Given the description of an element on the screen output the (x, y) to click on. 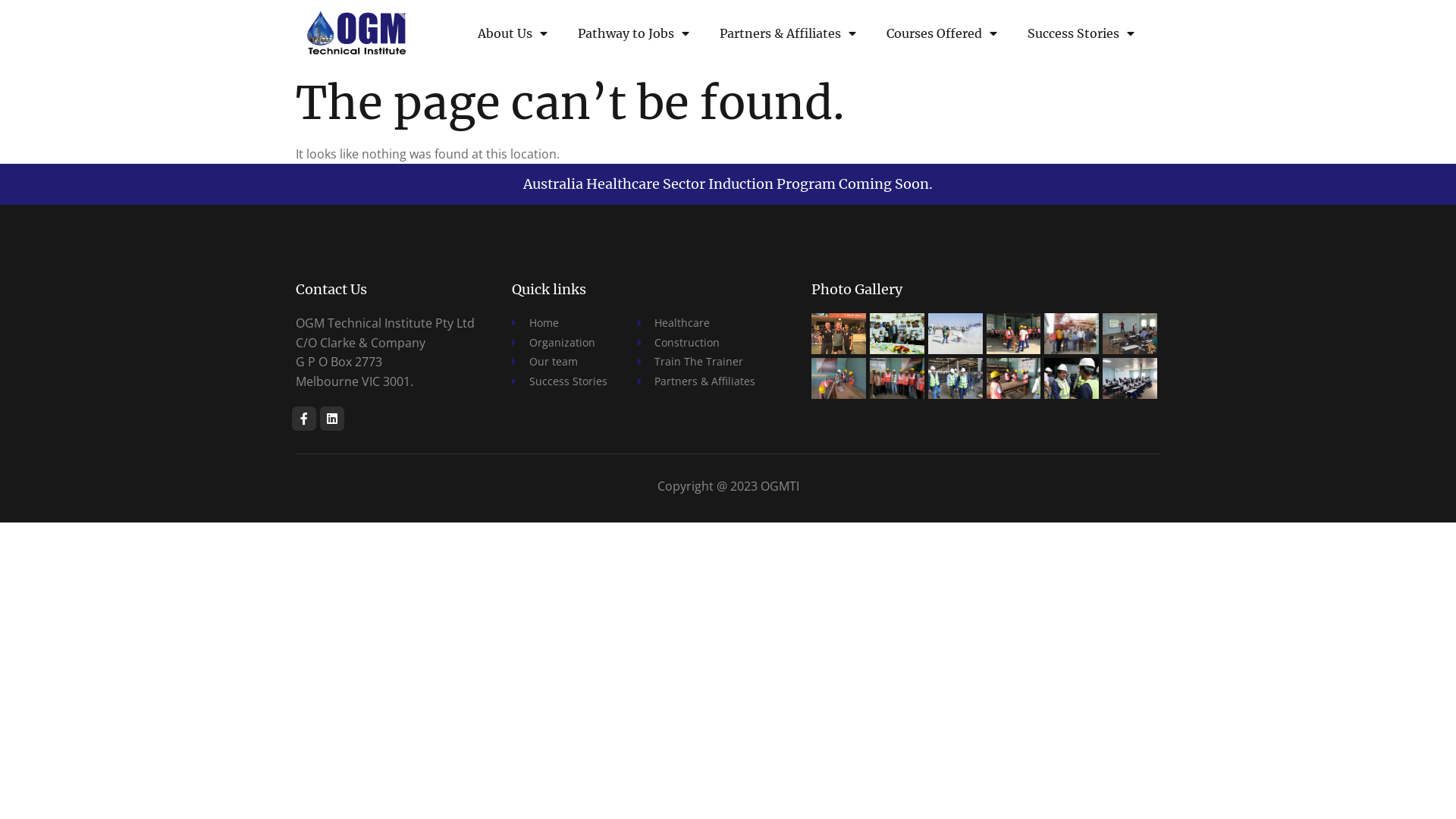
Construction Element type: text (696, 342)
Healthcare Element type: text (696, 322)
Our team Element type: text (559, 361)
Partners & Affiliates Element type: text (787, 33)
About Us Element type: text (512, 33)
Home Element type: text (559, 322)
Success Stories Element type: text (559, 381)
Organization Element type: text (559, 342)
Train The Trainer Element type: text (696, 361)
Courses Offered Element type: text (941, 33)
Pathway to Jobs Element type: text (633, 33)
Success Stories Element type: text (1080, 33)
Partners & Affiliates Element type: text (696, 381)
